Given the description of an element on the screen output the (x, y) to click on. 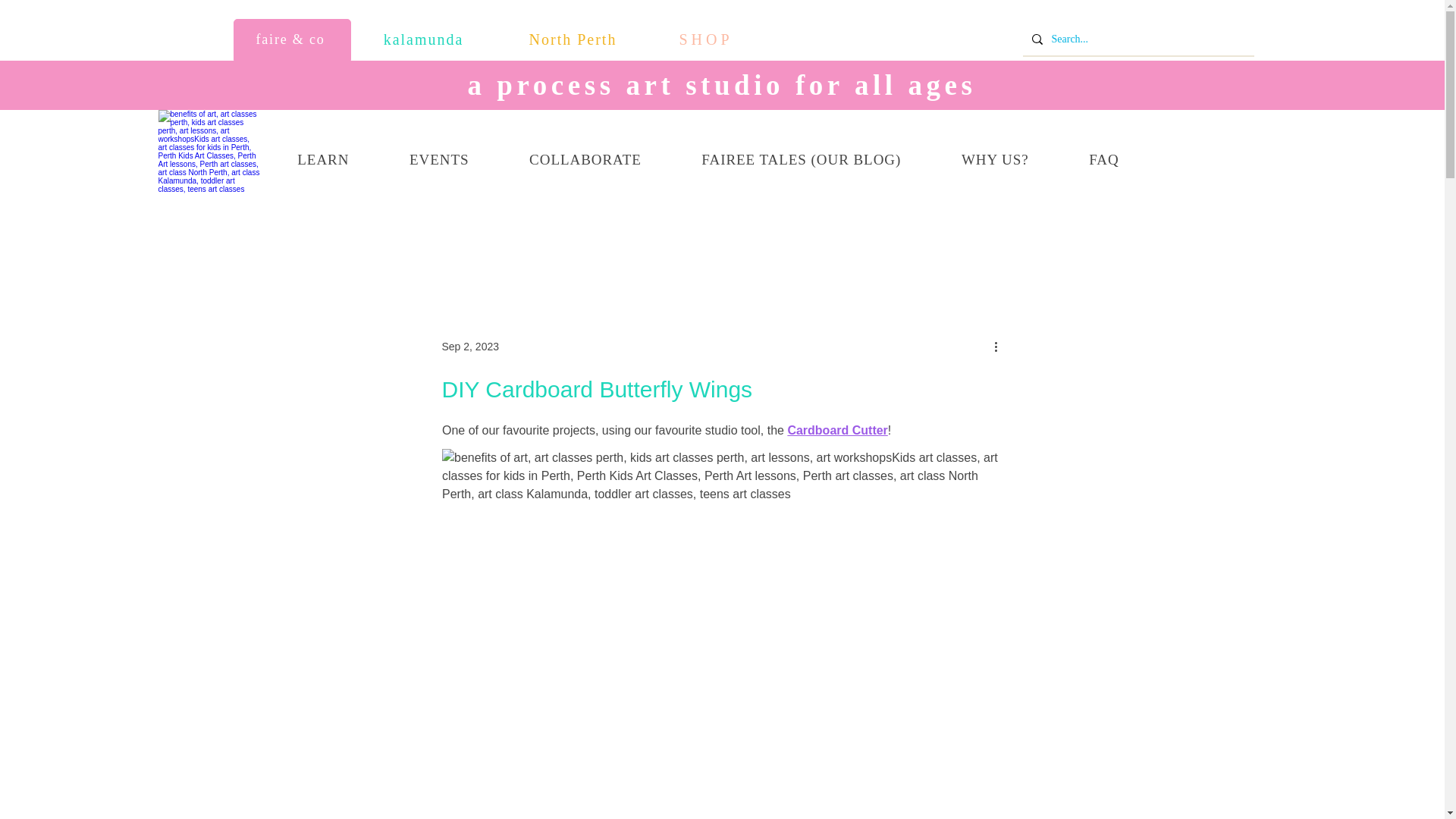
COLLABORATE (585, 160)
kalamunda (424, 39)
EVENTS (438, 160)
SHOP (708, 39)
LEARN (322, 160)
North Perth (574, 39)
Sep 2, 2023 (470, 346)
